Given the description of an element on the screen output the (x, y) to click on. 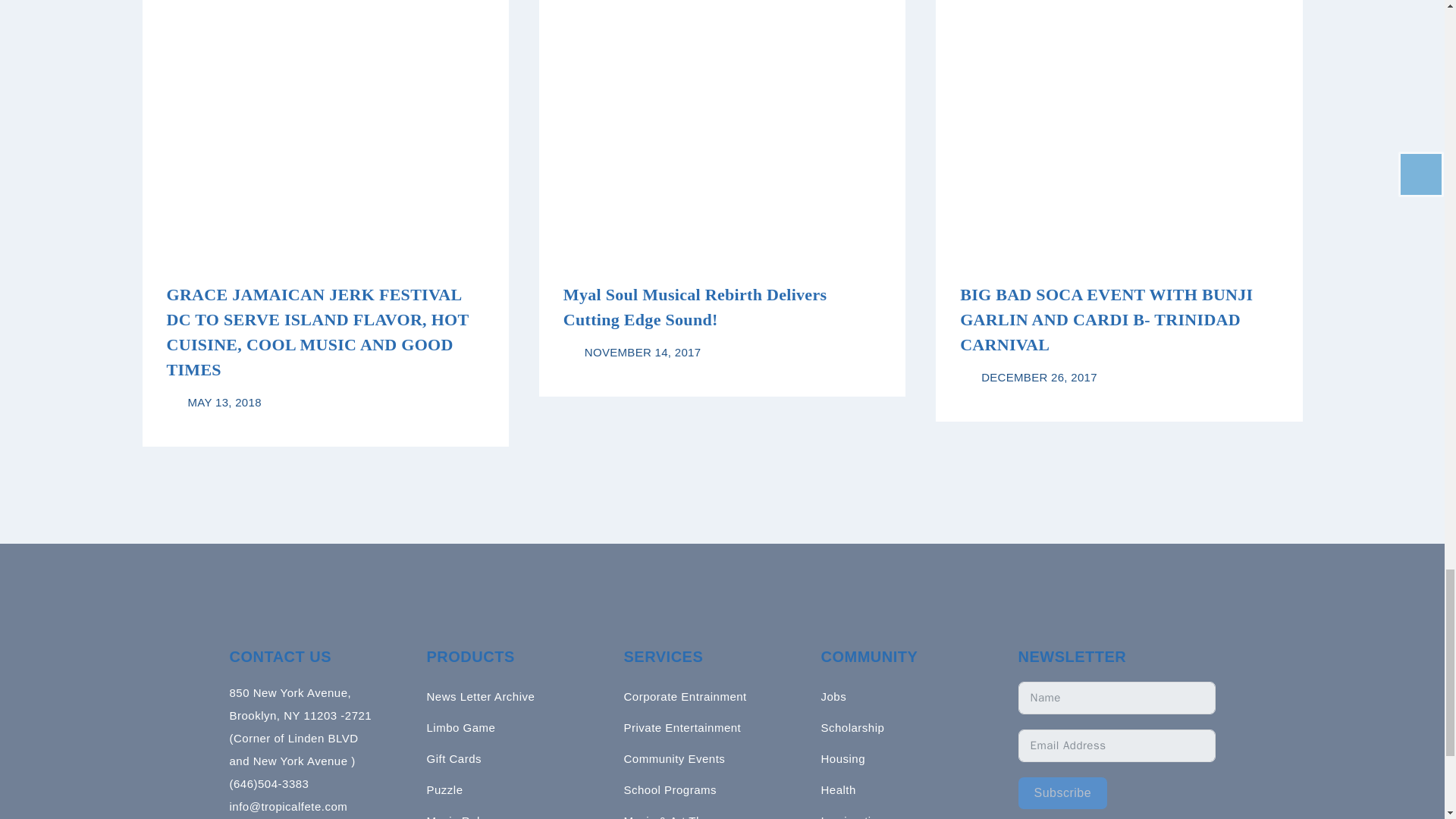
Myal Soul Musical Rebirth Delivers Cutting Edge Sound! (695, 307)
